Given the description of an element on the screen output the (x, y) to click on. 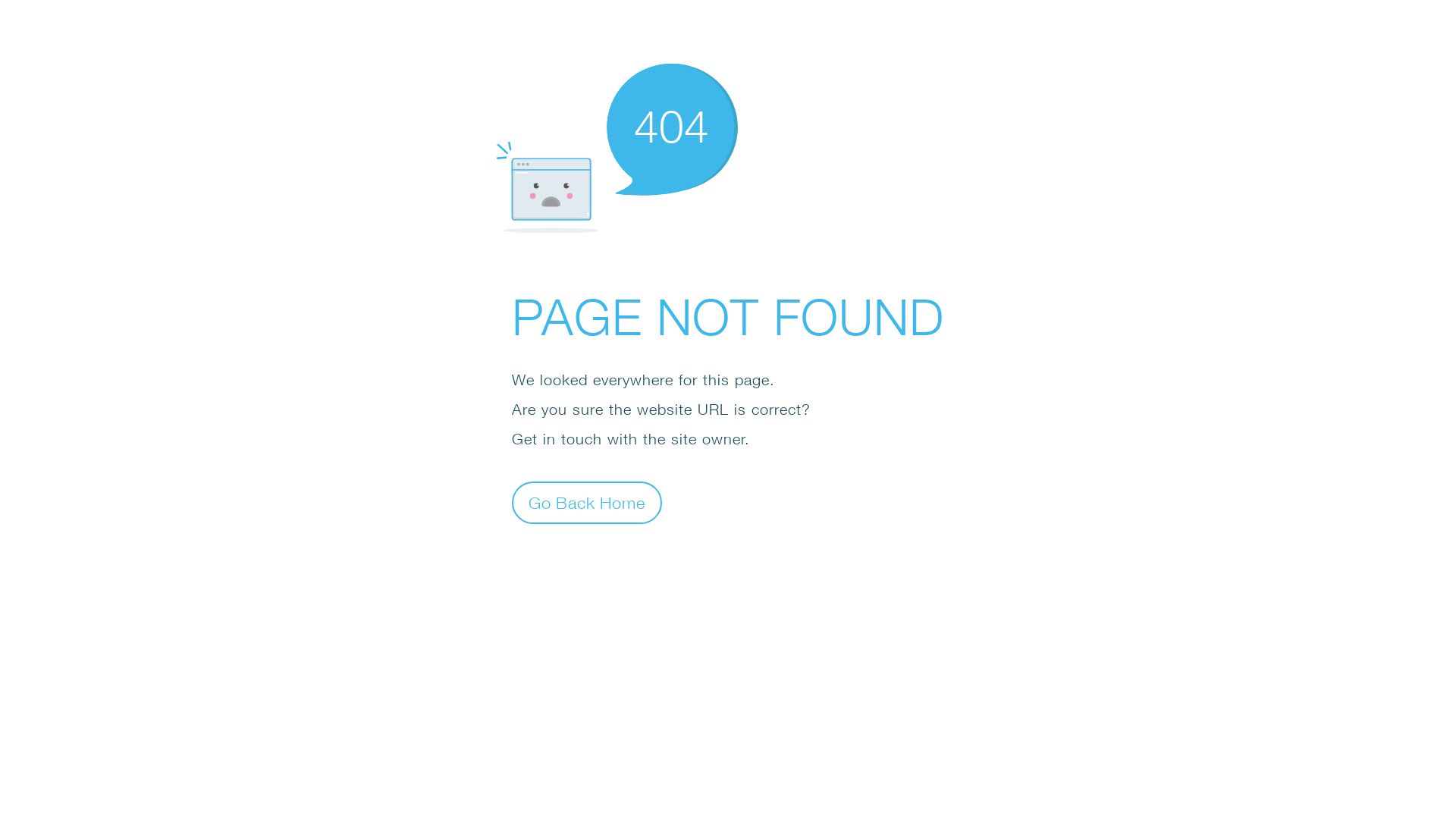
Go Back Home Element type: text (586, 502)
